Given the description of an element on the screen output the (x, y) to click on. 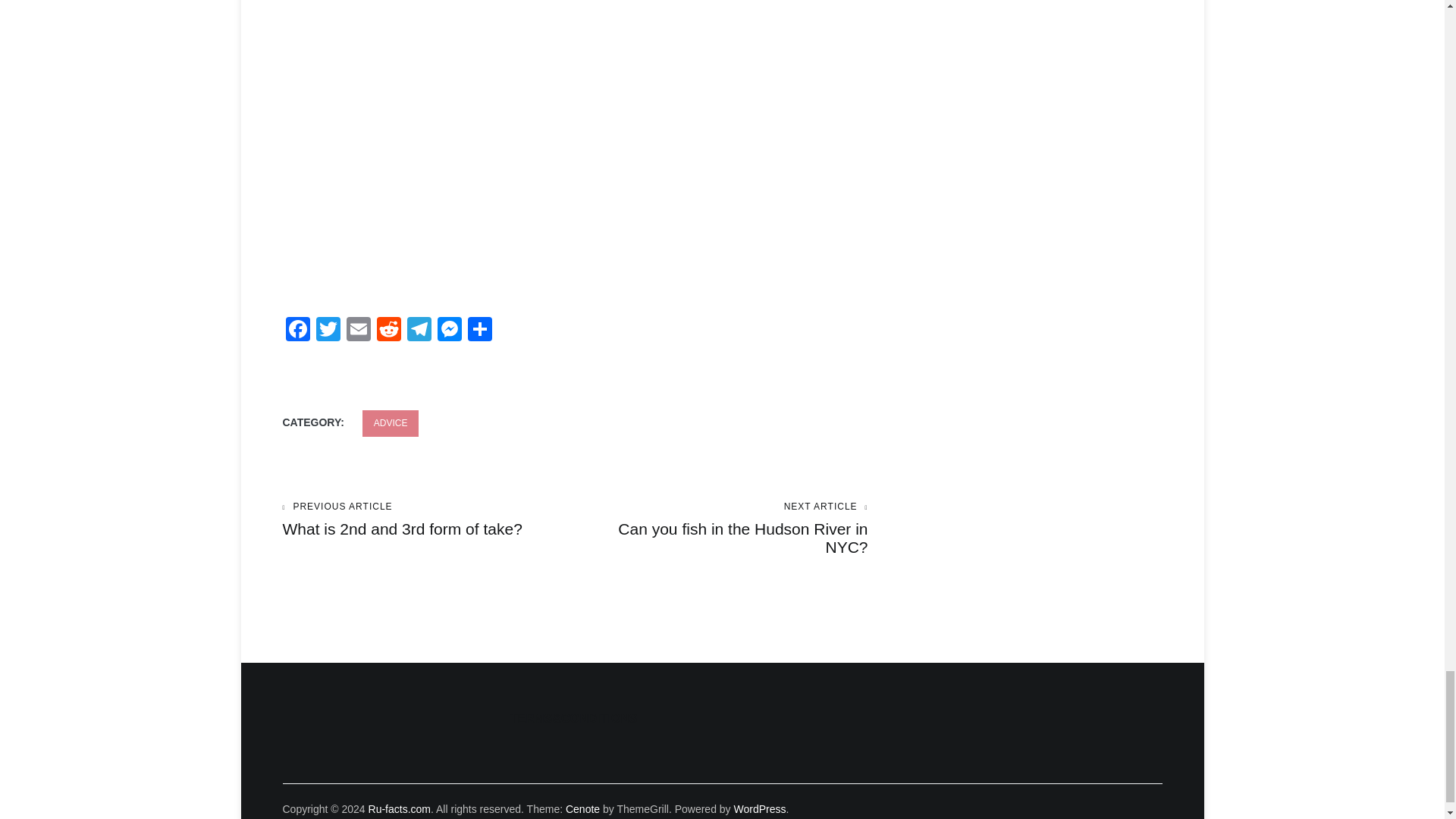
Reddit (387, 330)
Ru-facts.com (399, 808)
Facebook (297, 330)
Telegram (418, 330)
Email (357, 330)
Email (357, 330)
Facebook (297, 330)
Twitter (327, 330)
Messenger (448, 330)
